Given the description of an element on the screen output the (x, y) to click on. 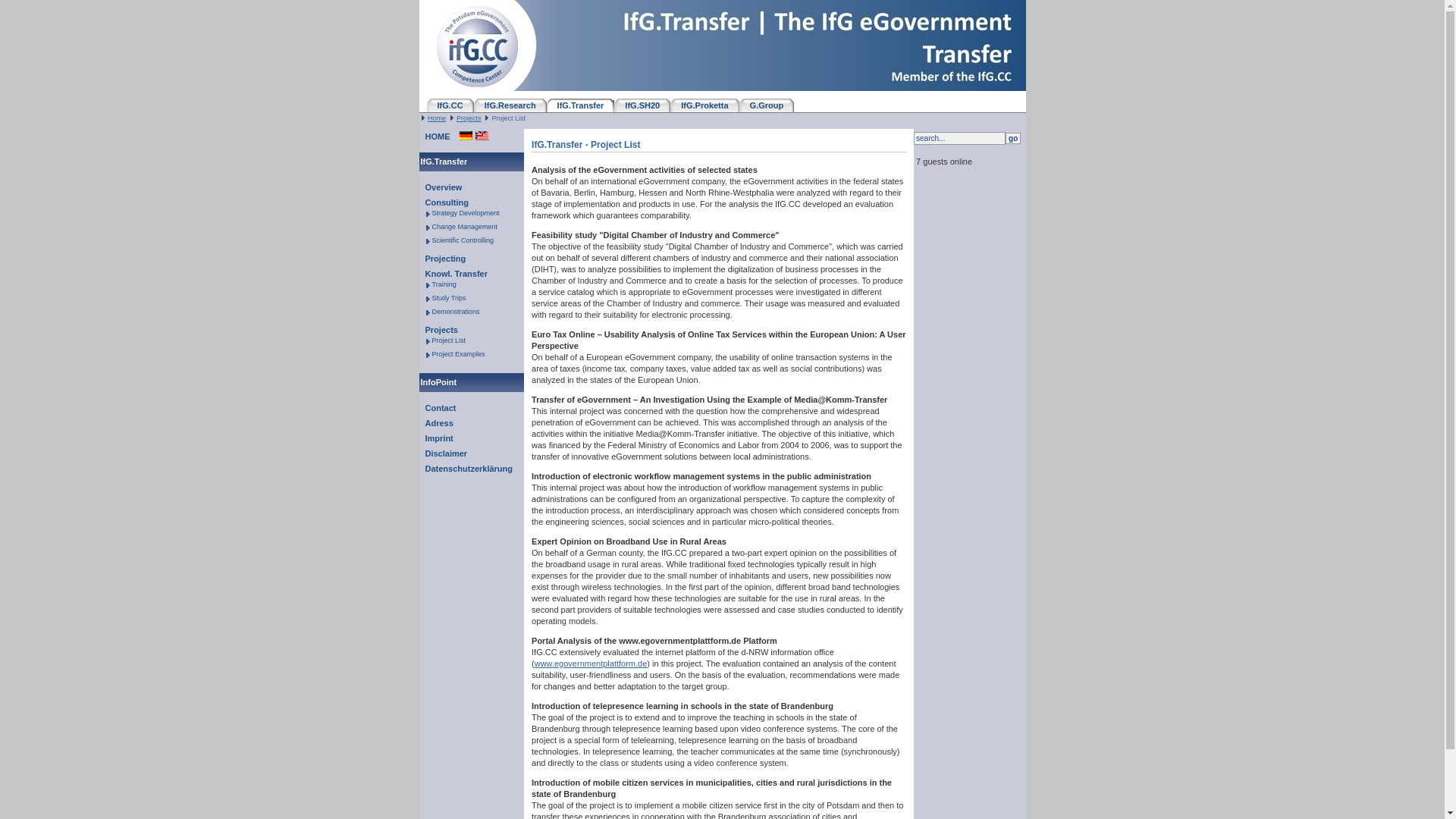
G.Group Element type: text (766, 105)
English (United Kingdom) Element type: hover (481, 135)
Scientific Controlling Element type: text (461, 240)
Deutsch (DE-CH-AT) Element type: hover (465, 135)
Demonstrations Element type: text (454, 311)
Contact Element type: text (436, 407)
IfG.Proketta Element type: text (704, 105)
go Element type: text (1012, 138)
Study Trips Element type: text (447, 297)
Adress Element type: text (435, 422)
www.egovernmentplattform.de Element type: text (590, 663)
Consulting Element type: text (442, 202)
Training Element type: text (442, 284)
IfG.Transfer Element type: text (580, 105)
Imprint Element type: text (435, 437)
IfG.SH20 Element type: text (642, 105)
HOME Element type: text (433, 136)
Disclaimer Element type: text (442, 453)
IfG.Research Element type: text (509, 105)
Home Element type: text (436, 118)
Project List Element type: text (447, 340)
Projecting Element type: text (441, 258)
Overview Element type: text (439, 186)
Strategy Development Element type: text (463, 212)
IfG.CC Element type: text (449, 105)
Knowl. Transfer Element type: text (452, 273)
Projects Element type: text (437, 329)
Project Examples Element type: text (456, 353)
Change Management Element type: text (463, 226)
Projects Element type: text (468, 118)
